Given the description of an element on the screen output the (x, y) to click on. 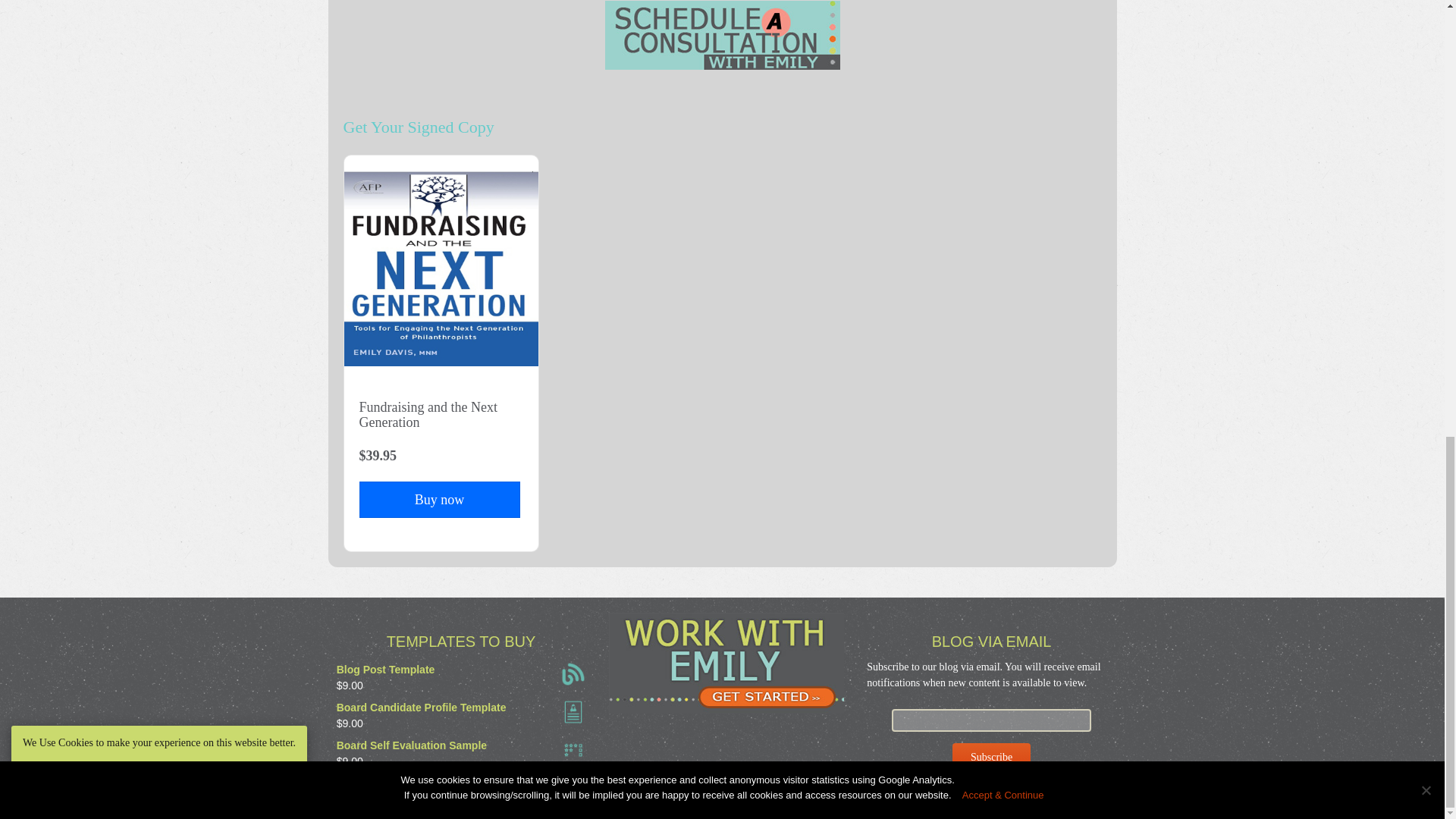
Subscribe (991, 757)
